Given the description of an element on the screen output the (x, y) to click on. 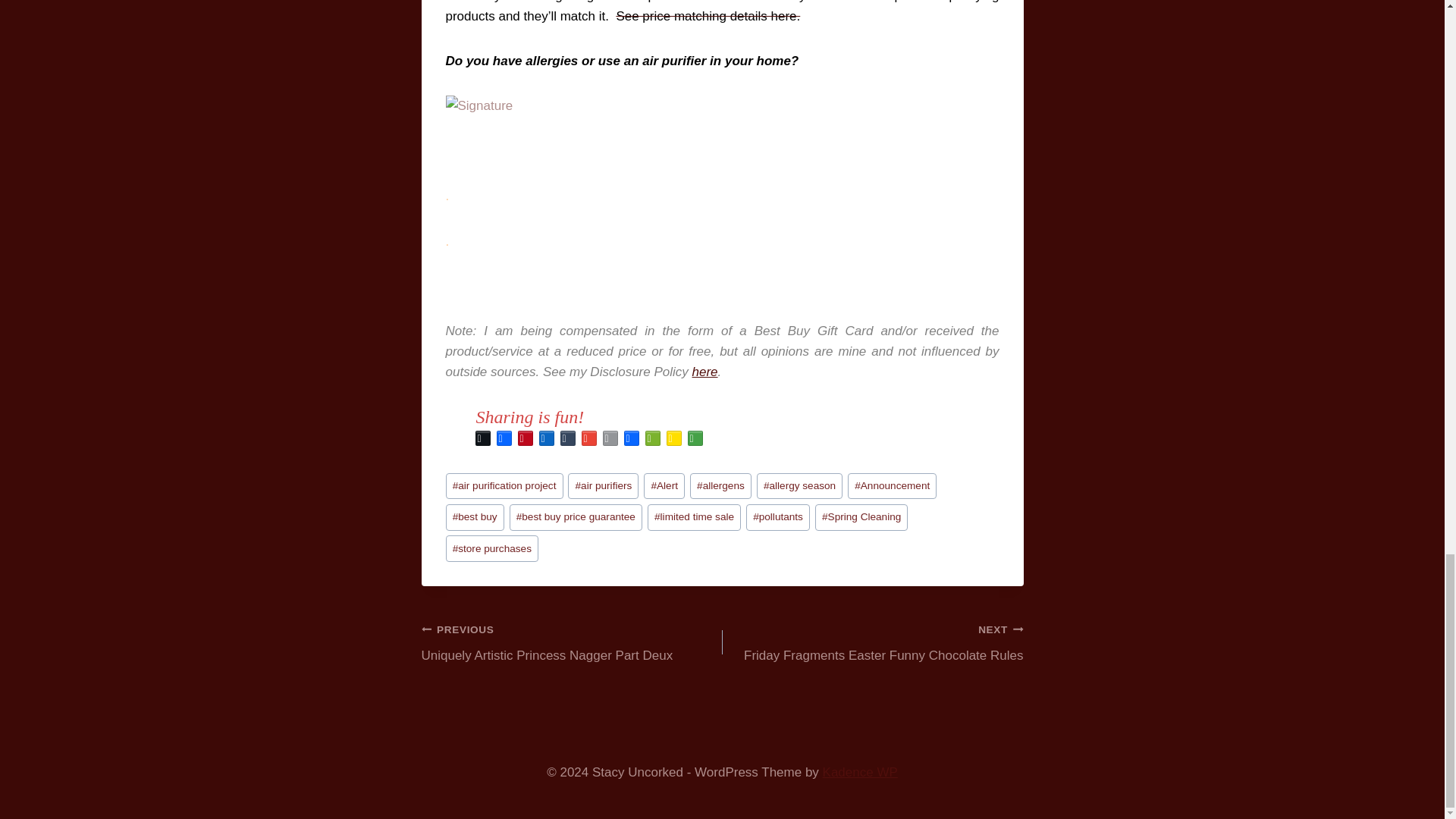
WeChat (652, 437)
Snapchat (673, 437)
Facebook (503, 437)
Best Buy Price Match  (707, 16)
Stacy Uncorked Disclosure Policy (705, 371)
here (705, 371)
LinkedIn (545, 437)
Tumblr (567, 437)
Google Gmail (588, 437)
Pinterest (524, 437)
